Given the description of an element on the screen output the (x, y) to click on. 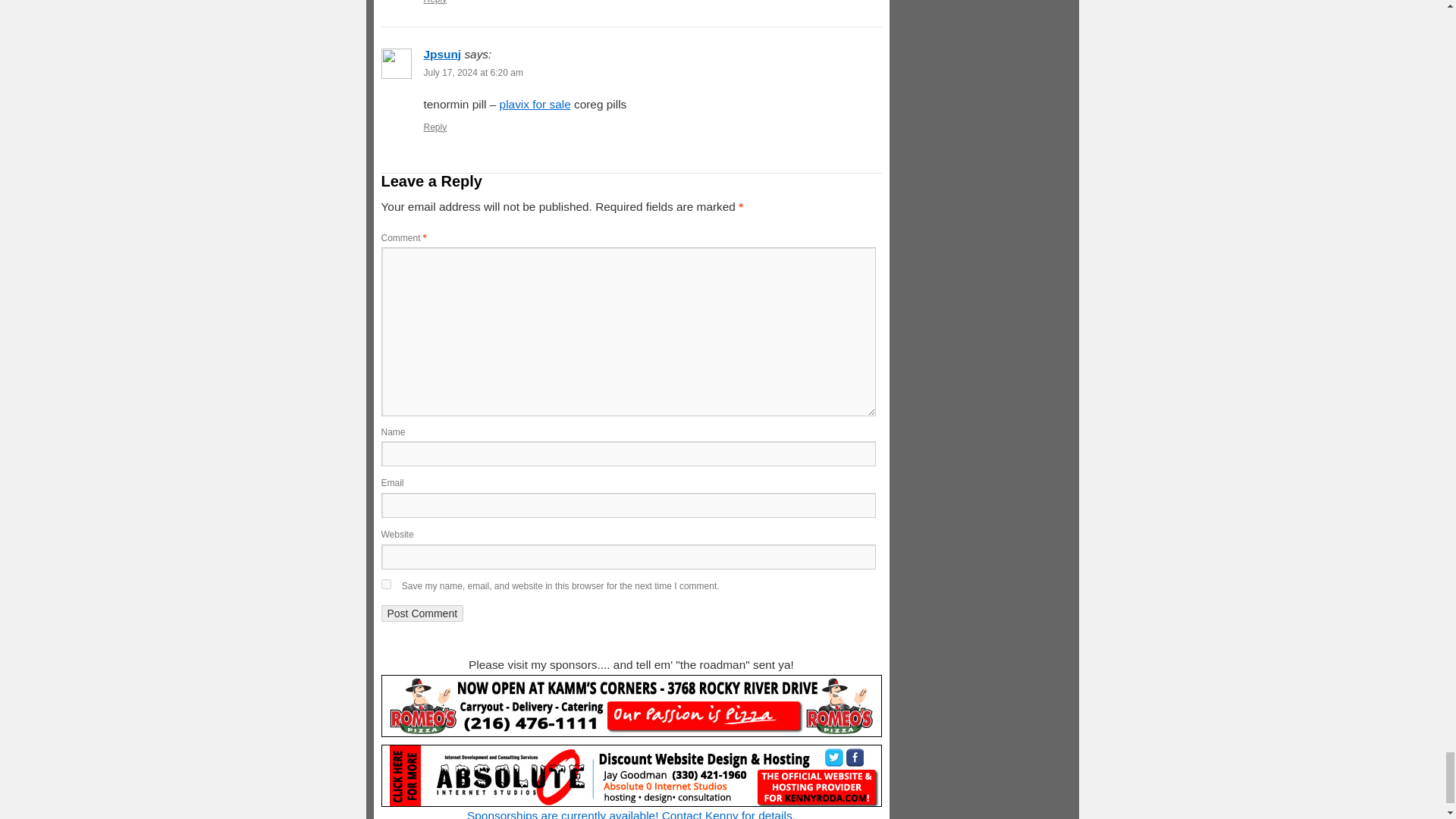
Post Comment (421, 613)
yes (385, 583)
Please visit our sponsors (630, 705)
Please visit our sponsors (630, 775)
